Given the description of an element on the screen output the (x, y) to click on. 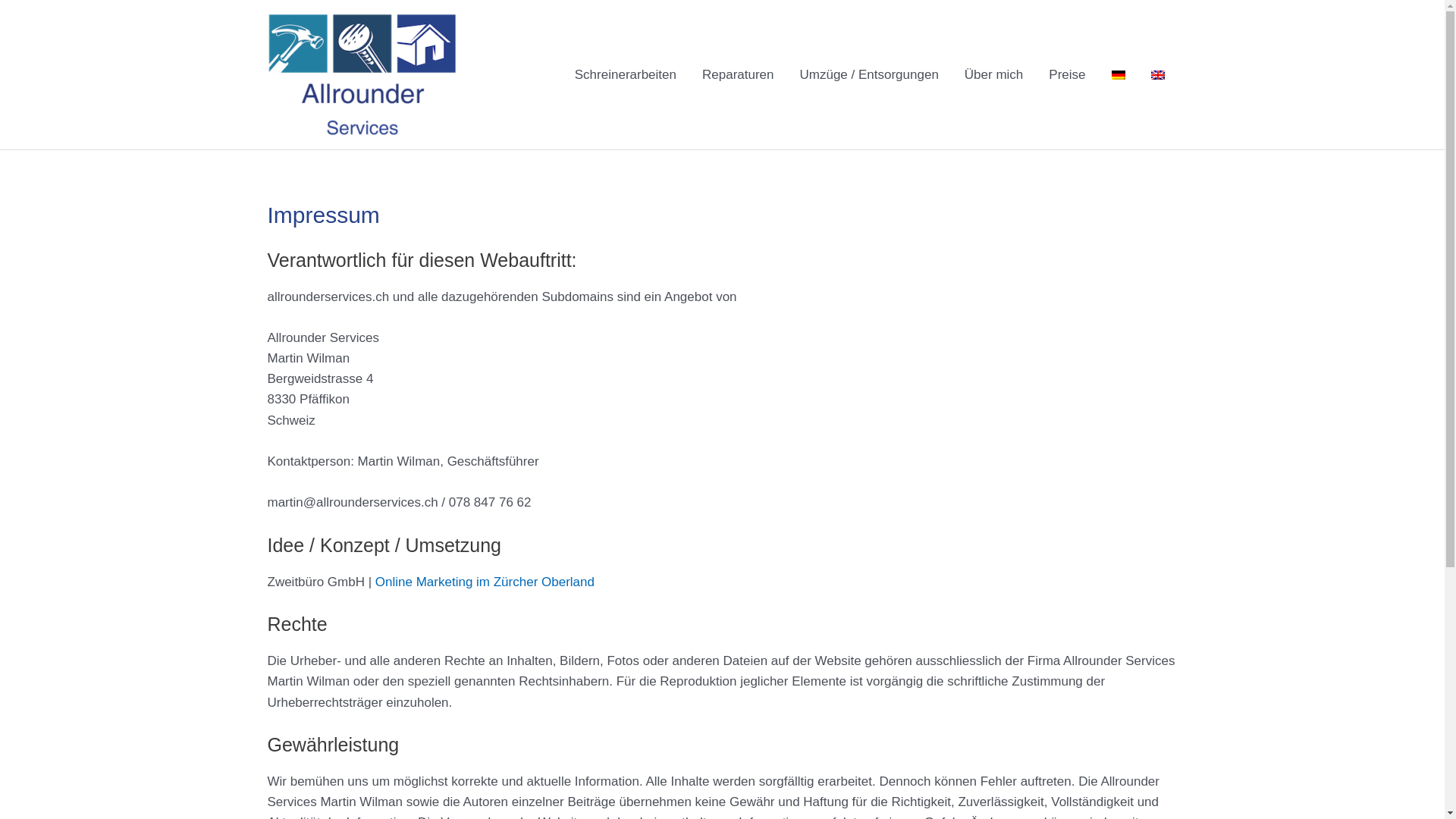
Schreinerarbeiten Element type: text (625, 74)
Reparaturen Element type: text (738, 74)
Preise Element type: text (1066, 74)
